Given the description of an element on the screen output the (x, y) to click on. 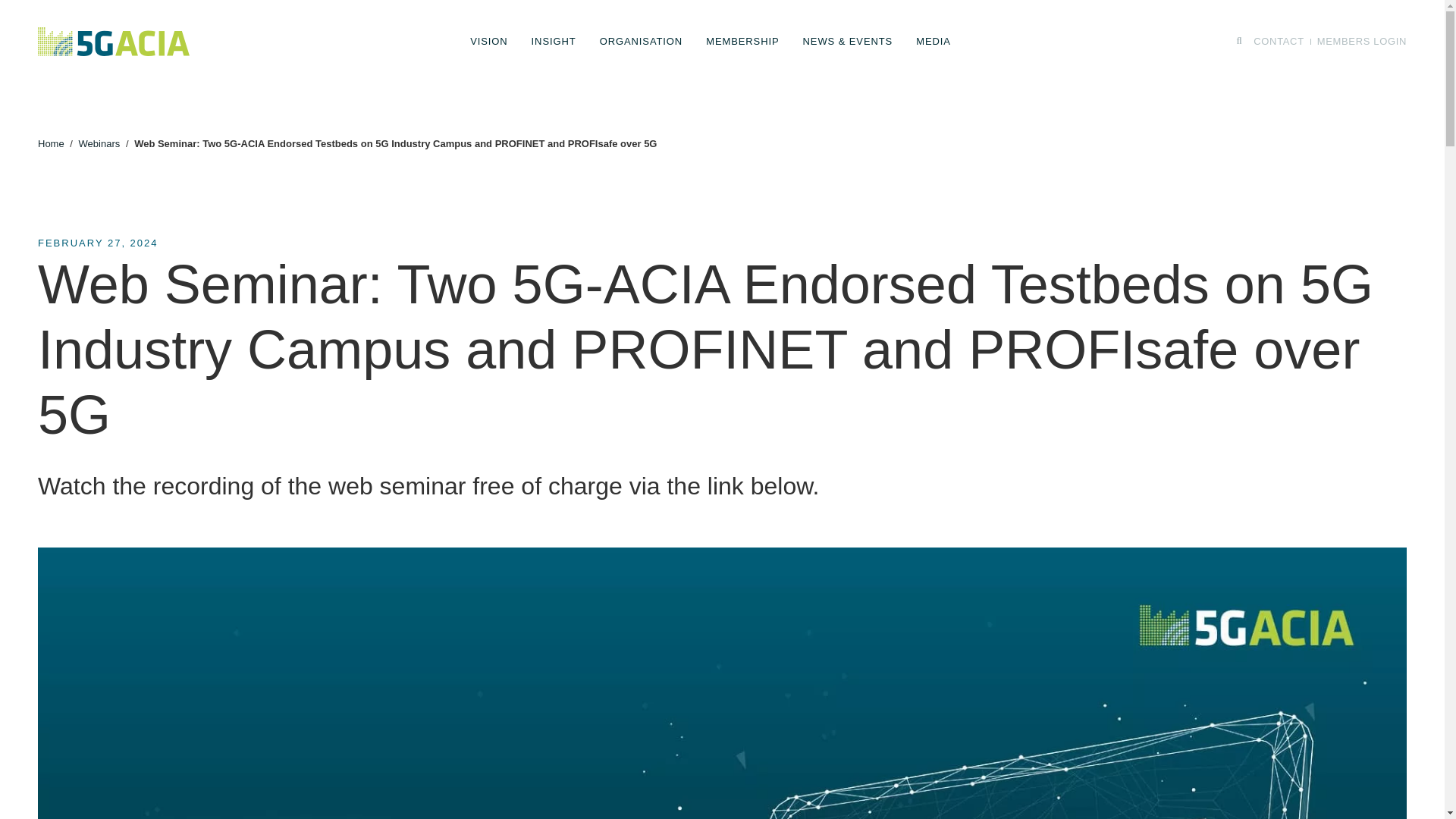
MEMBERS LOGIN (1361, 42)
CONTACT (1278, 42)
